Given the description of an element on the screen output the (x, y) to click on. 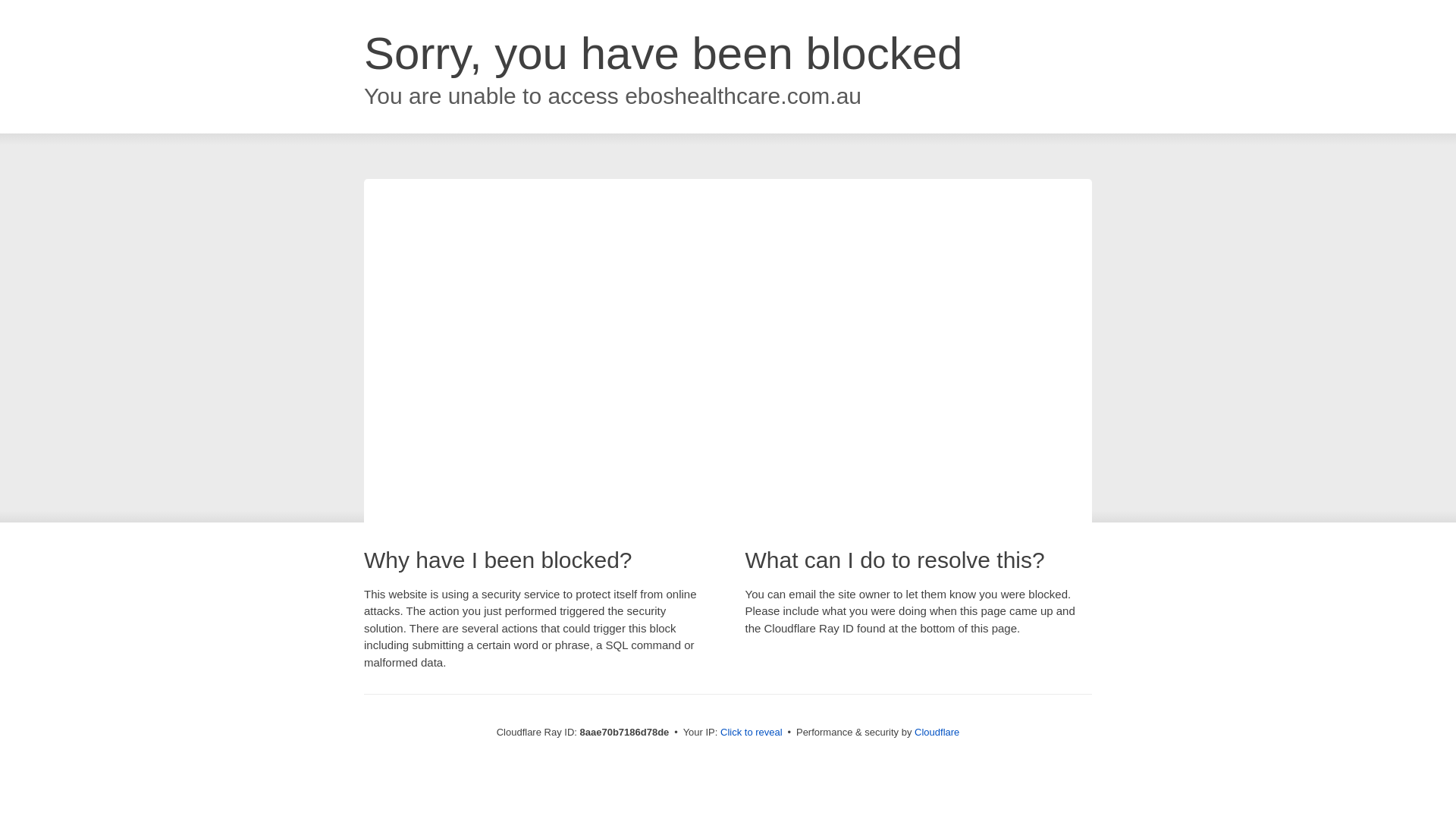
Click to reveal (751, 732)
Cloudflare (936, 731)
